Given the description of an element on the screen output the (x, y) to click on. 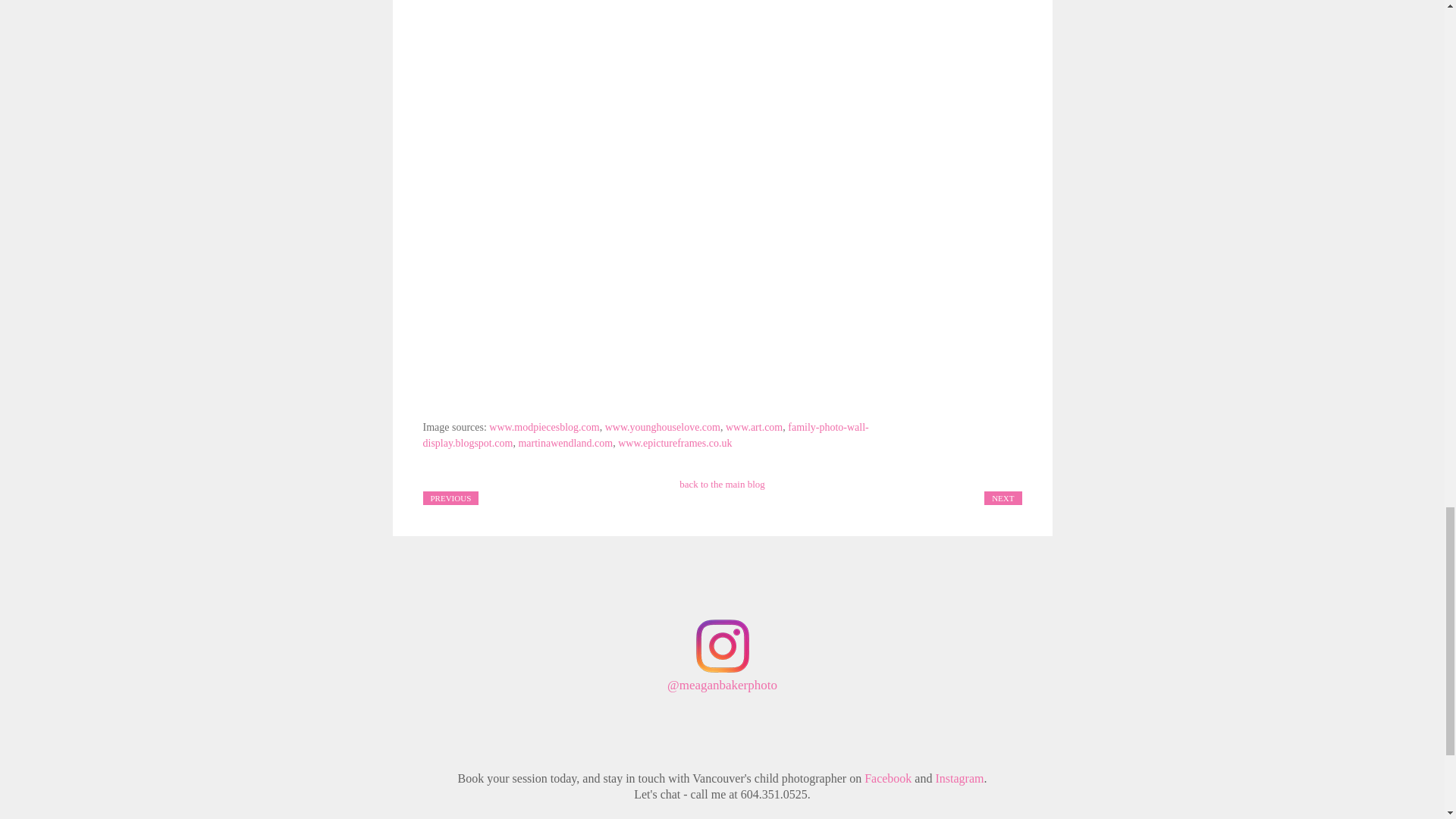
www.modpiecesblog.com (543, 427)
www.epictureframes.co.uk (674, 442)
PREVIOUS (451, 496)
martinawendland.com (565, 442)
back to the main blog (722, 483)
Facebook (887, 778)
NEXT (1003, 496)
Instagram (959, 778)
family-photo-wall-display.blogspot.com (646, 434)
www.art.com (754, 427)
